Given the description of an element on the screen output the (x, y) to click on. 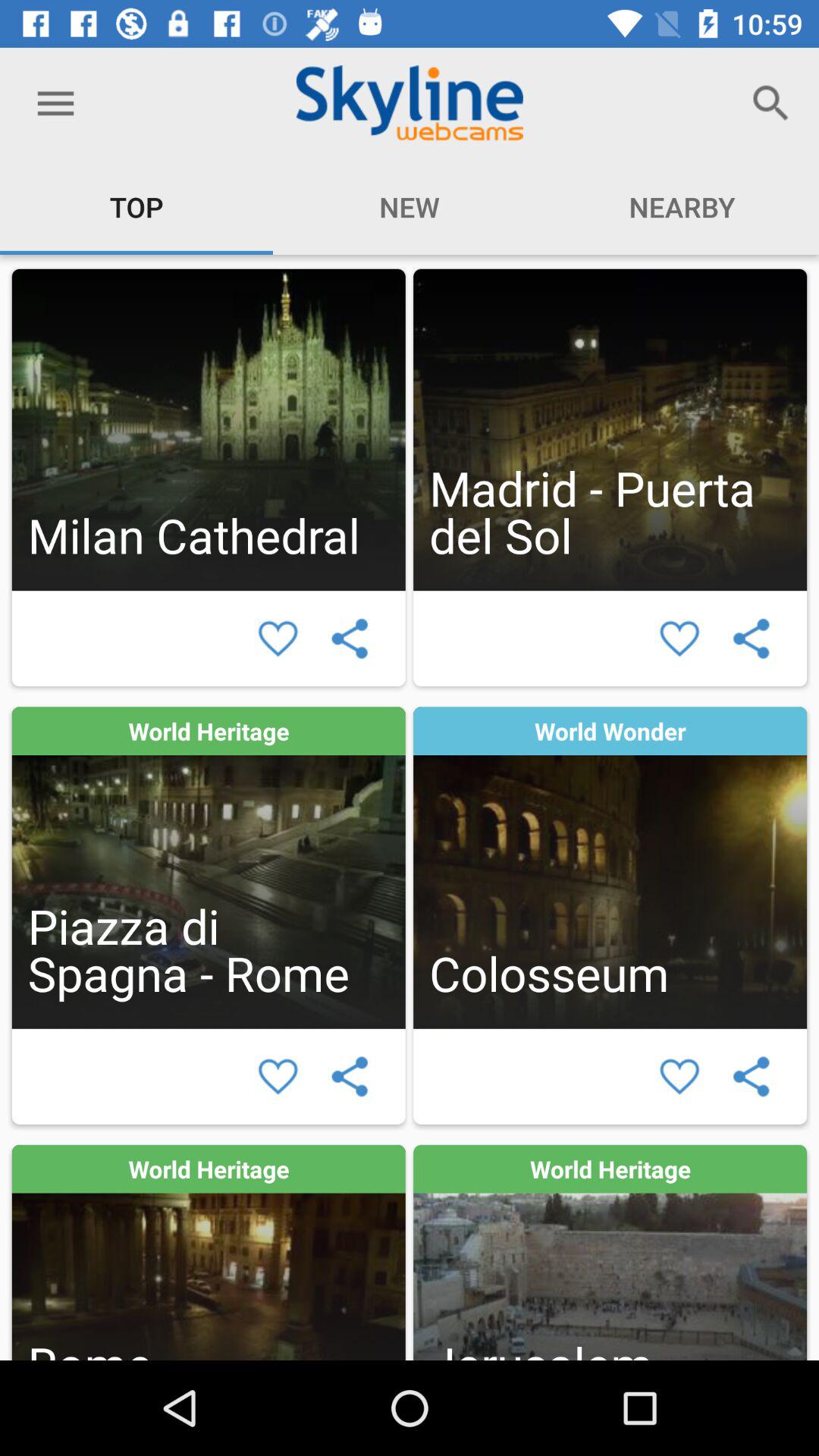
explore webcam (610, 429)
